Given the description of an element on the screen output the (x, y) to click on. 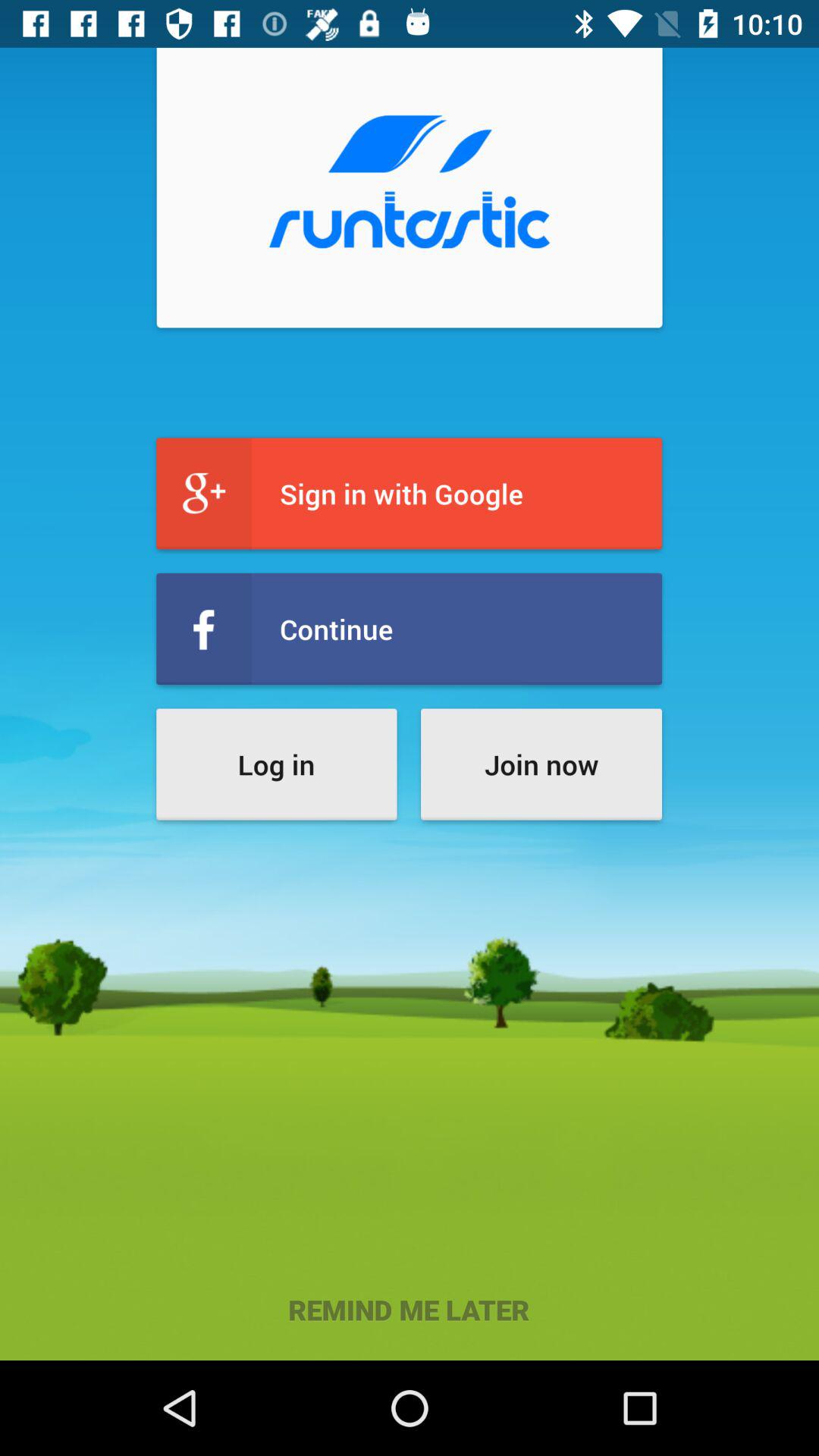
press the item next to log in item (541, 764)
